Given the description of an element on the screen output the (x, y) to click on. 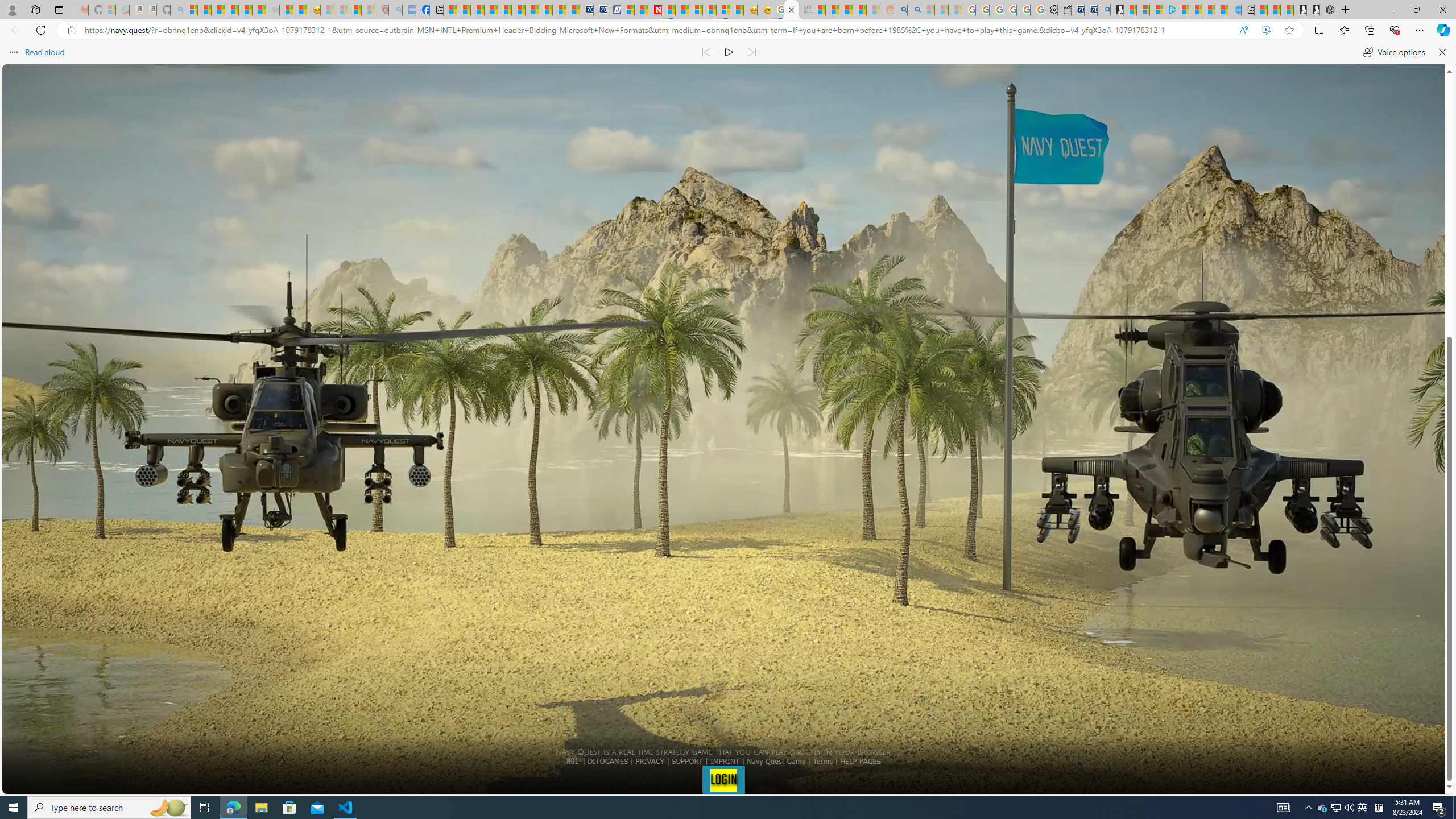
Close read aloud (1441, 52)
Voice options (1393, 52)
